Given the description of an element on the screen output the (x, y) to click on. 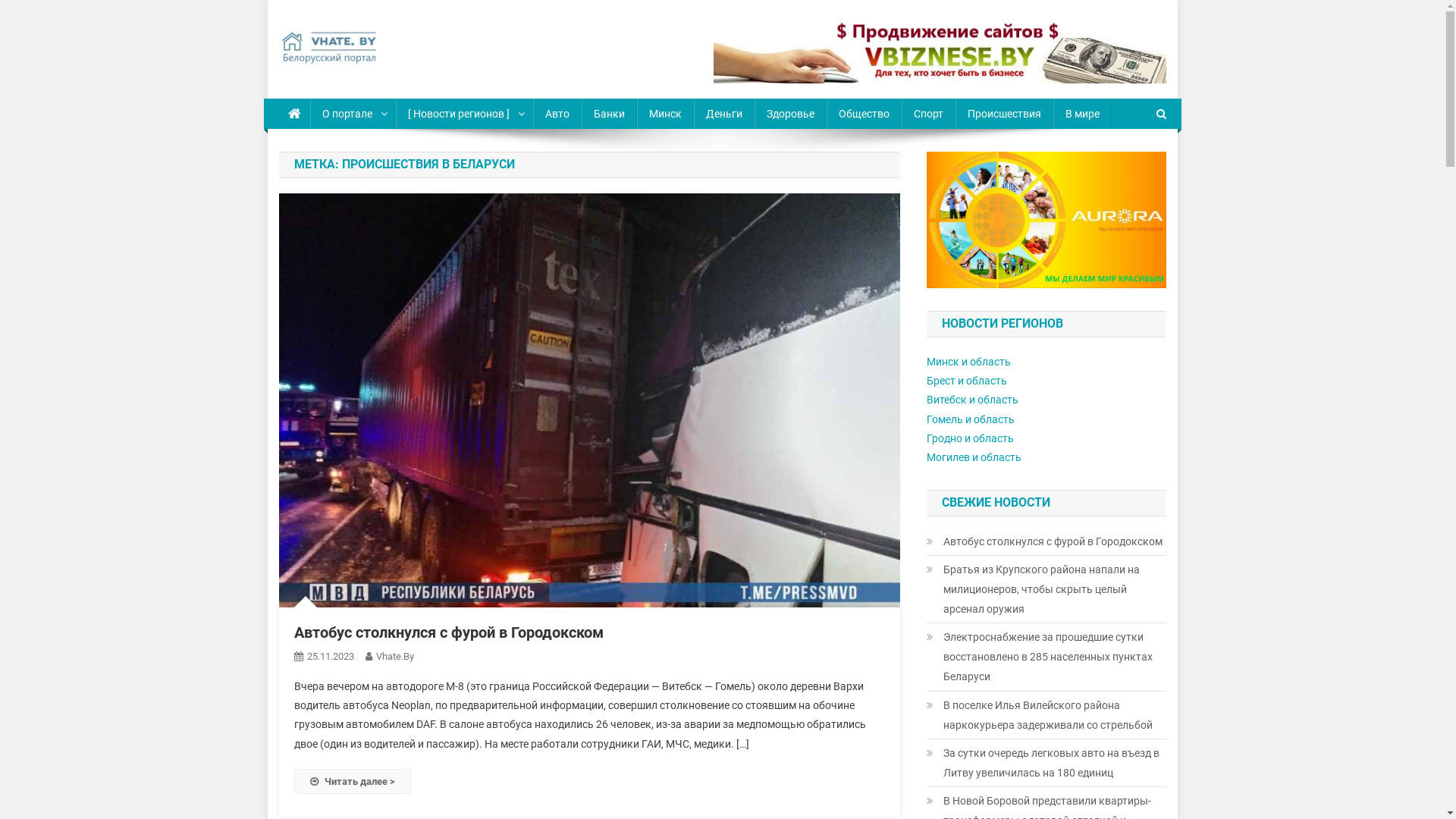
Vhate.By Element type: text (395, 656)
25.11.2023 Element type: text (329, 656)
